Given the description of an element on the screen output the (x, y) to click on. 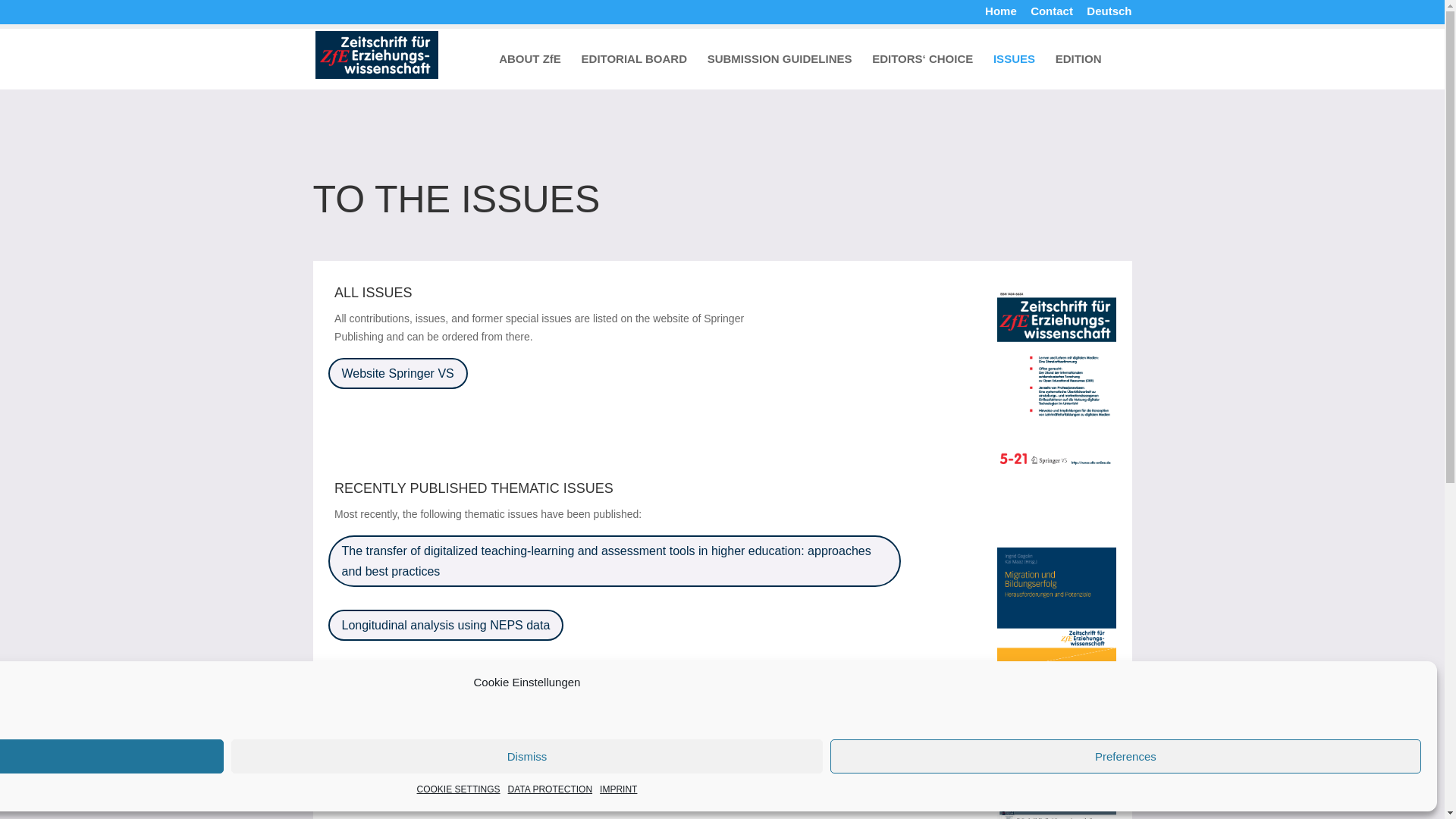
Leistungsstarke und besonders Begabte (449, 678)
Accept (112, 756)
Home (1000, 15)
DATA PROTECTION (550, 790)
Website Springer VS (397, 373)
Contact (1051, 15)
IMPRINT (618, 790)
ISSUES (1013, 70)
EDITION (1078, 70)
